Given the description of an element on the screen output the (x, y) to click on. 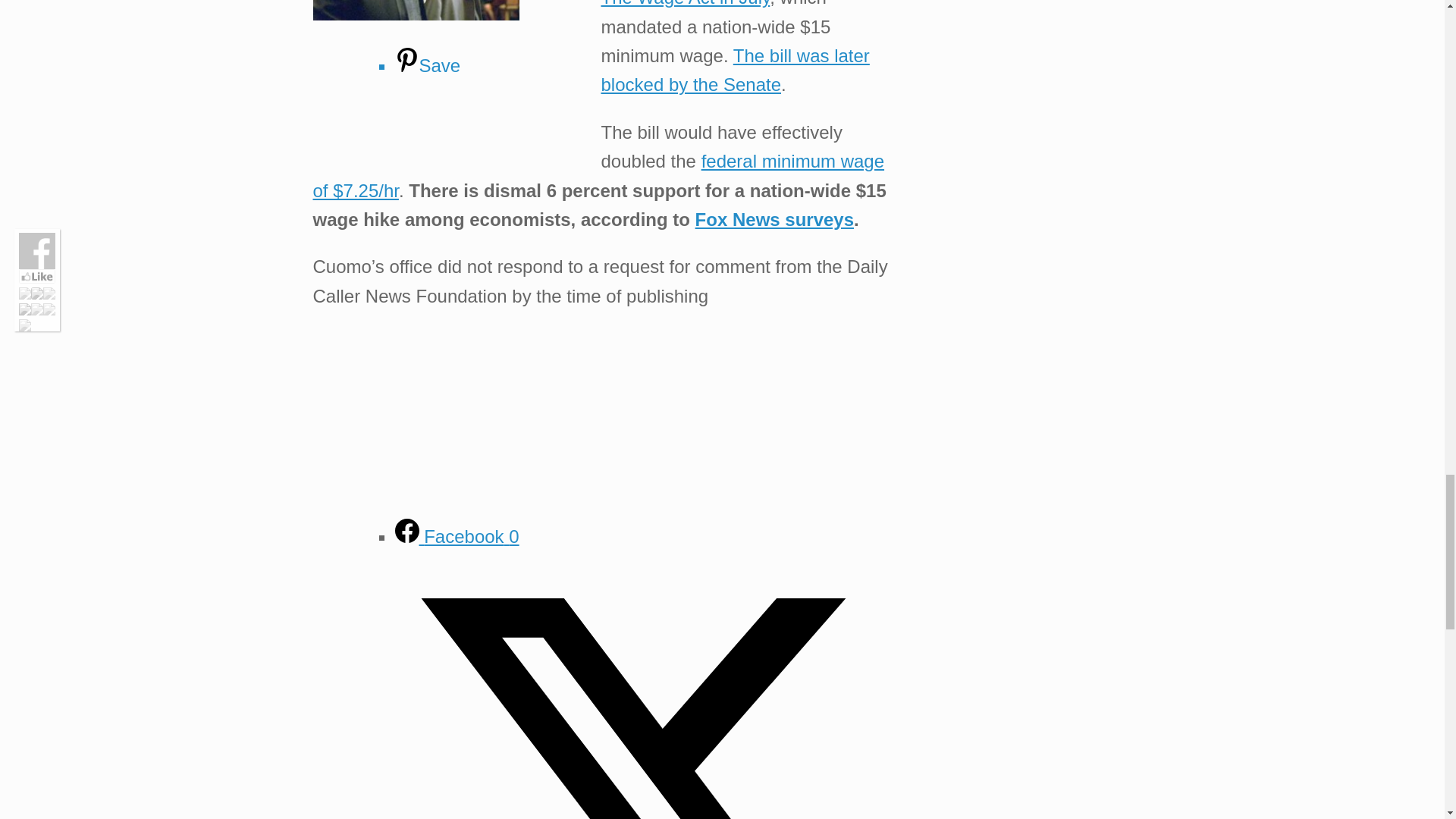
The House passed the Raise The Wage Act in July (747, 3)
The bill was later blocked by the Senate (734, 70)
